Given the description of an element on the screen output the (x, y) to click on. 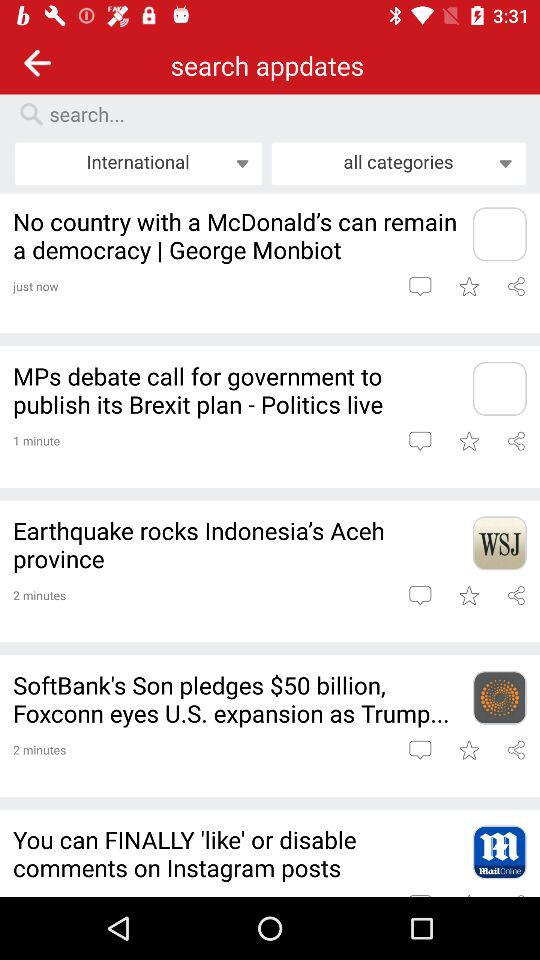
switch auto play option (515, 440)
